Given the description of an element on the screen output the (x, y) to click on. 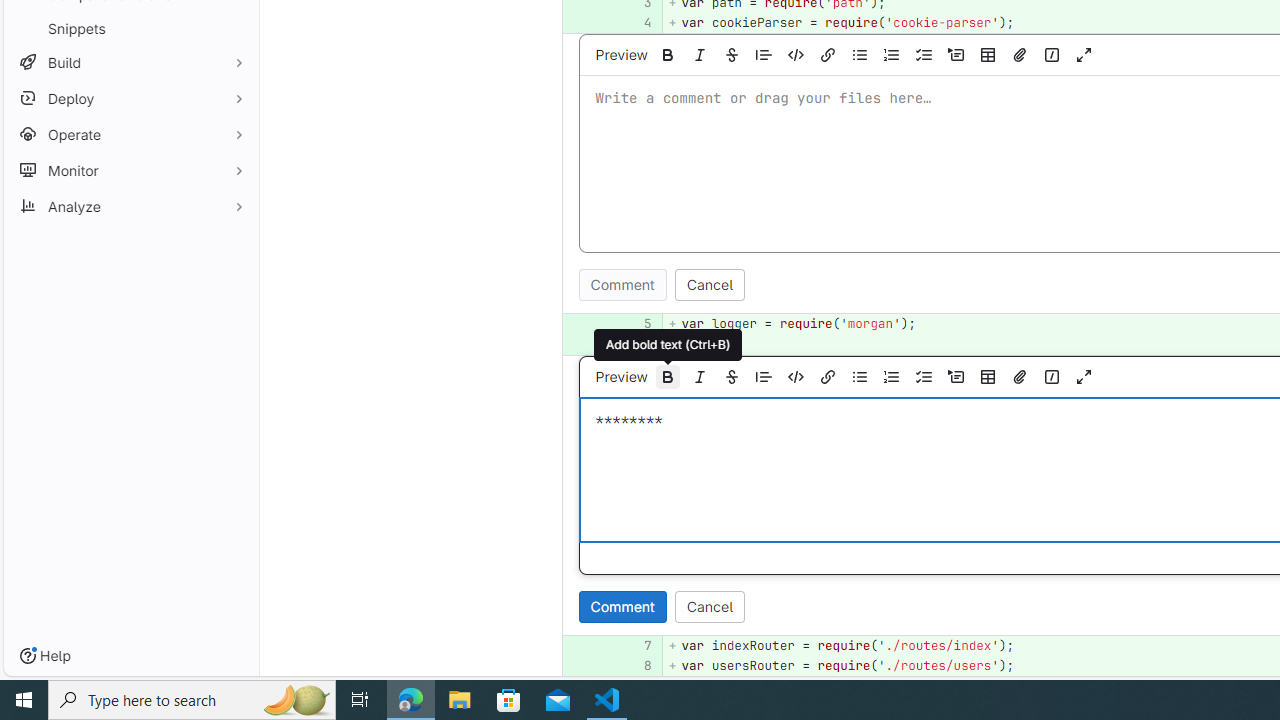
Add a link (Ctrl+K) (827, 376)
Add a bullet list (859, 376)
Class: s12 (562, 664)
Operate (130, 134)
7 (633, 645)
Insert code (795, 376)
8 (637, 665)
Comment (622, 605)
Analyze (130, 206)
Attach a file or image (1019, 376)
Analyze (130, 206)
8 (633, 665)
Add a quick action (1051, 376)
Pin Snippets (234, 28)
